Given the description of an element on the screen output the (x, y) to click on. 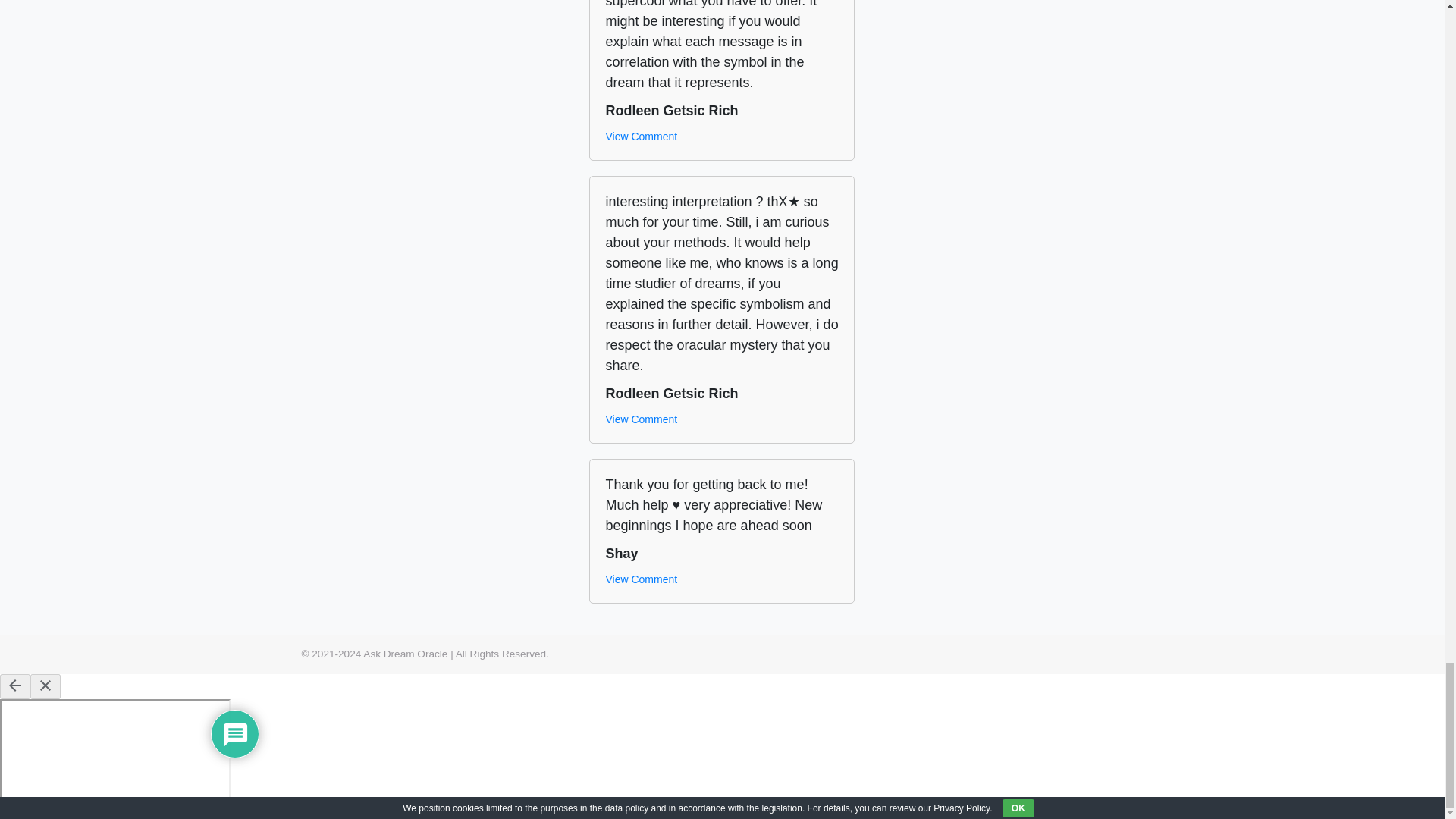
Ask Dream Oracle (404, 654)
View Comment (641, 136)
View Comment (641, 419)
View Comment (641, 579)
